Given the description of an element on the screen output the (x, y) to click on. 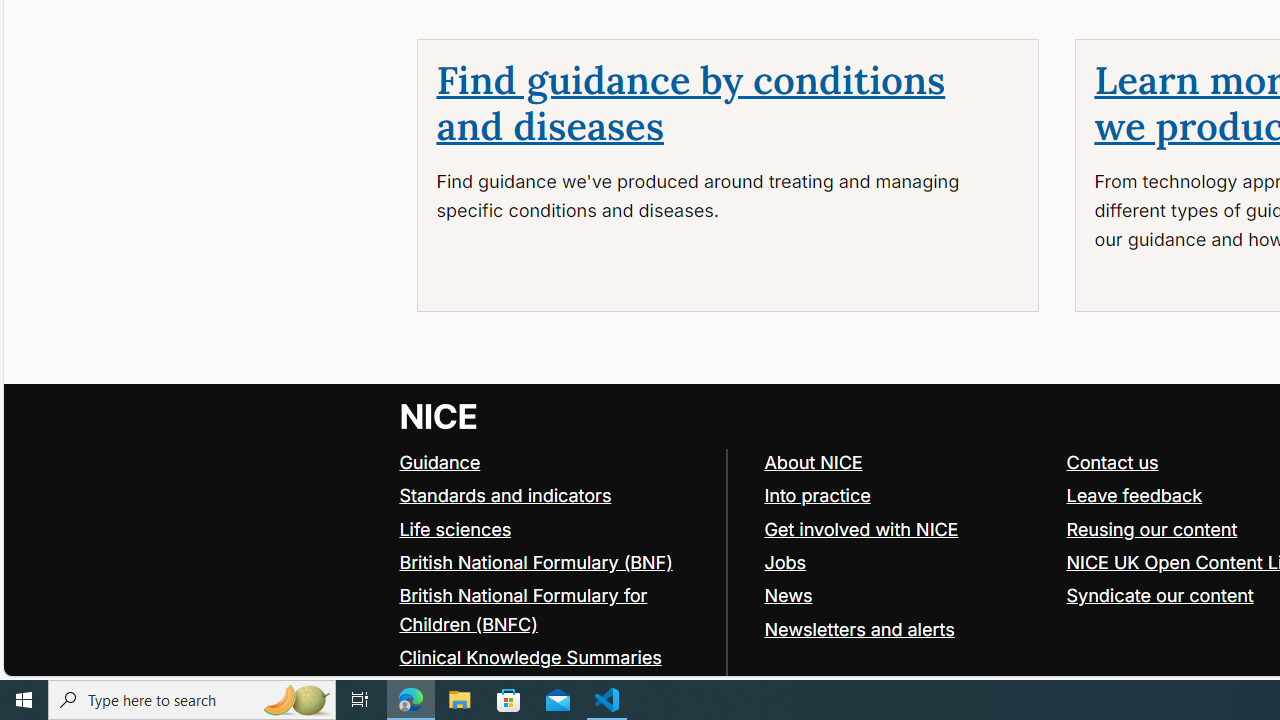
Life sciences (455, 528)
Life sciences (554, 529)
Go to NICE home page (439, 416)
British National Formulary for Children (BNFC) (523, 609)
Guidance (554, 462)
Syndicate our content (1160, 594)
About NICE (906, 462)
Find guidance by conditions and diseases (690, 103)
Reusing our content (1151, 528)
Get involved with NICE (906, 529)
Leave feedback (1134, 494)
